Given the description of an element on the screen output the (x, y) to click on. 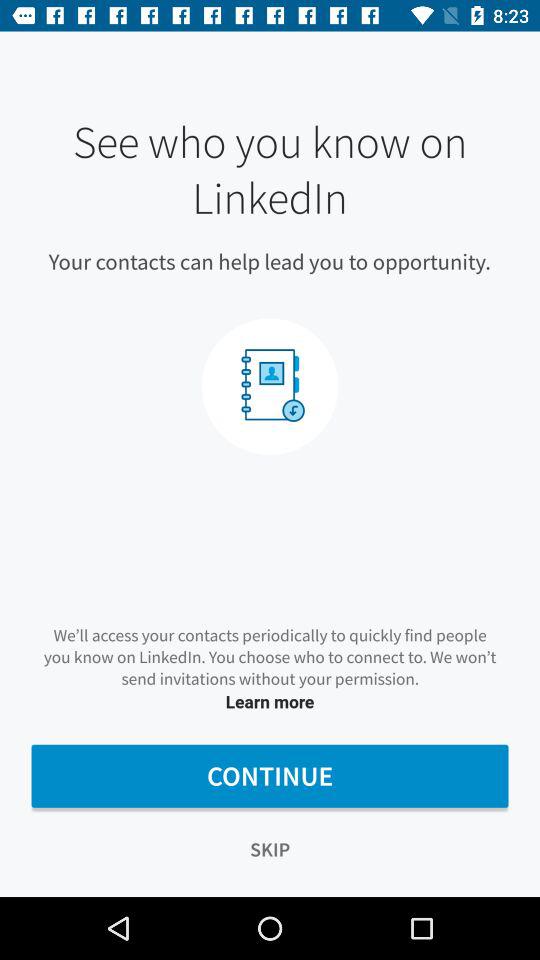
click icon above the skip icon (269, 775)
